Given the description of an element on the screen output the (x, y) to click on. 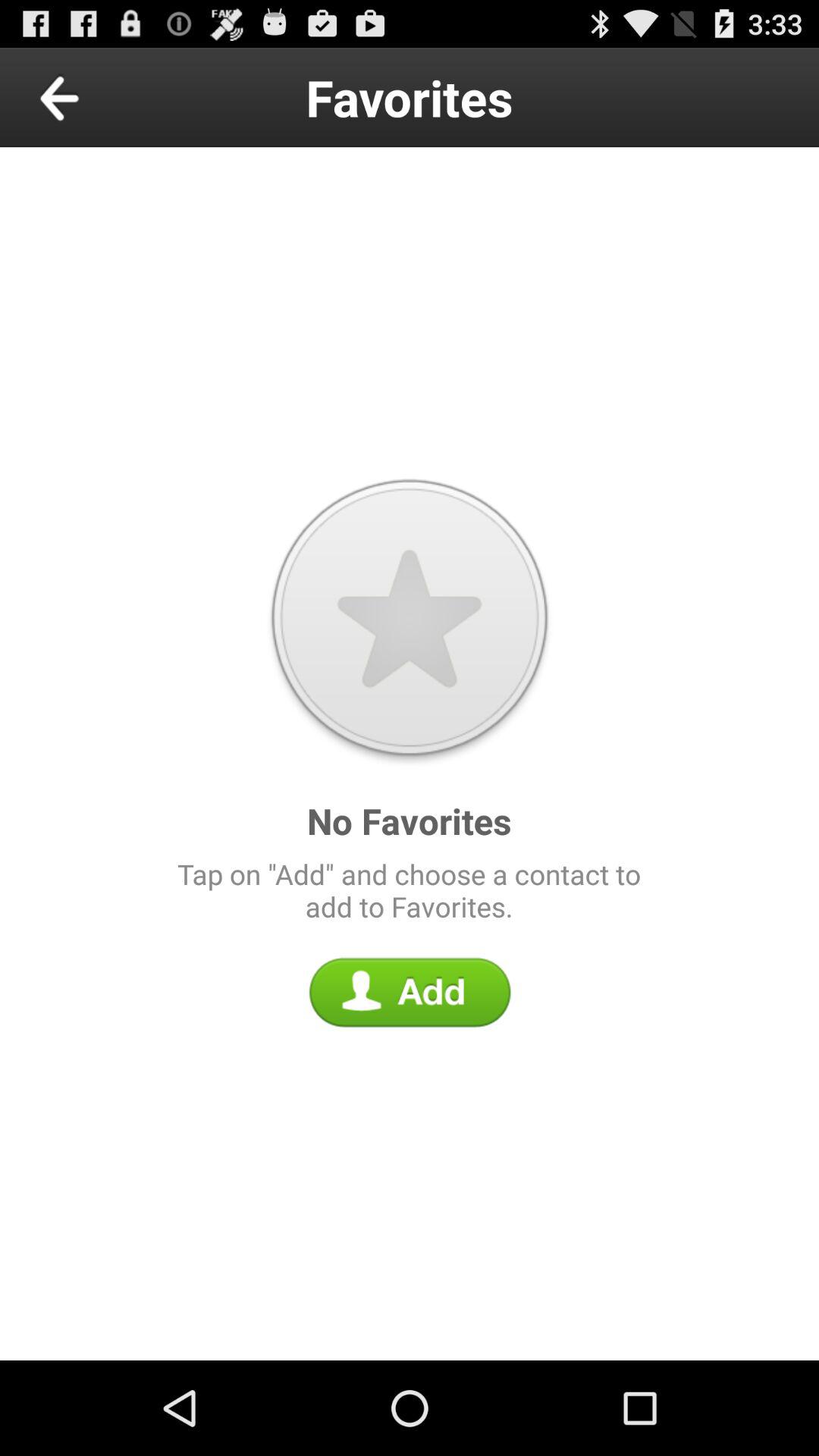
go to previous (94, 97)
